Given the description of an element on the screen output the (x, y) to click on. 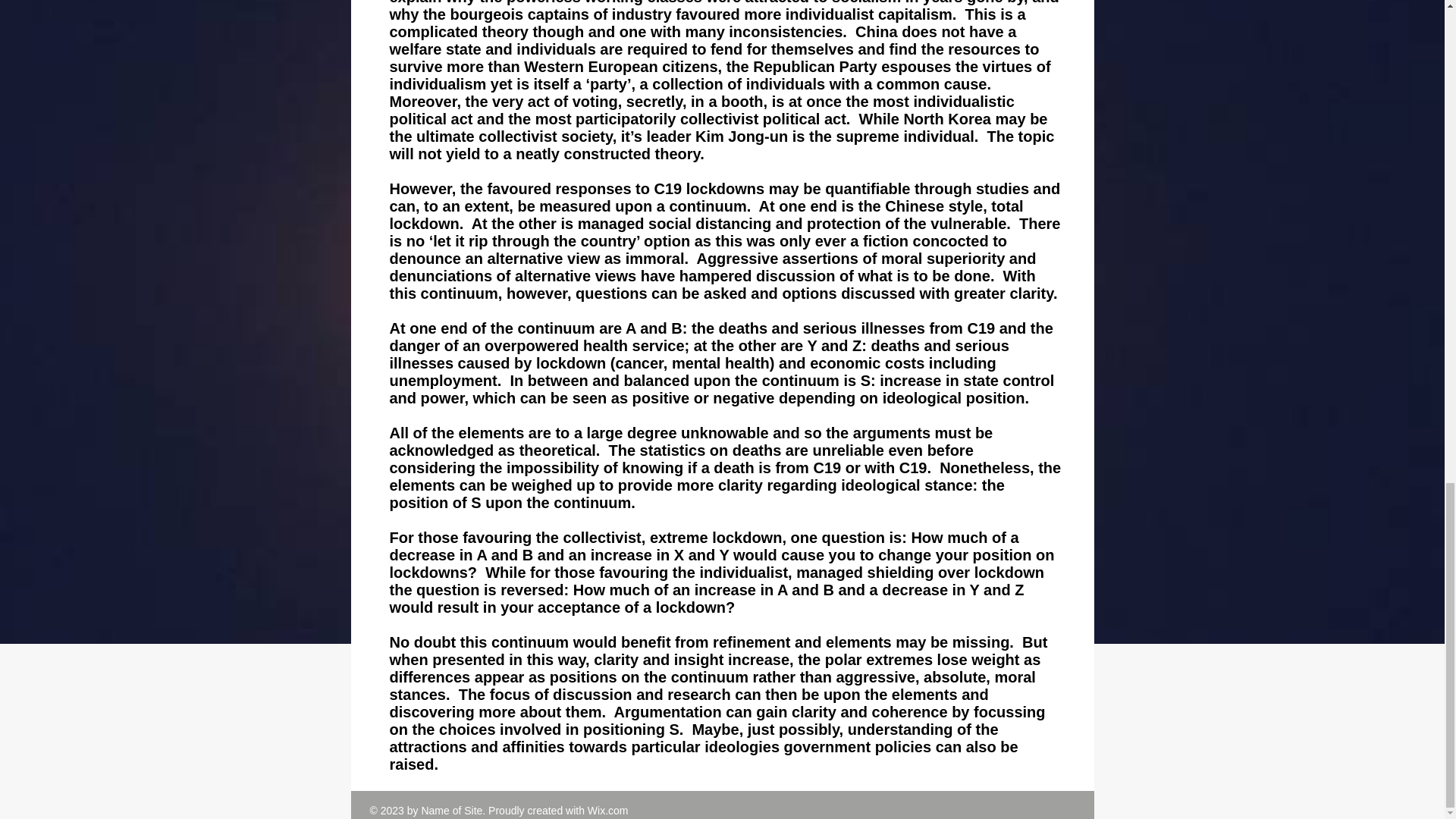
Wix.com (608, 810)
